Given the description of an element on the screen output the (x, y) to click on. 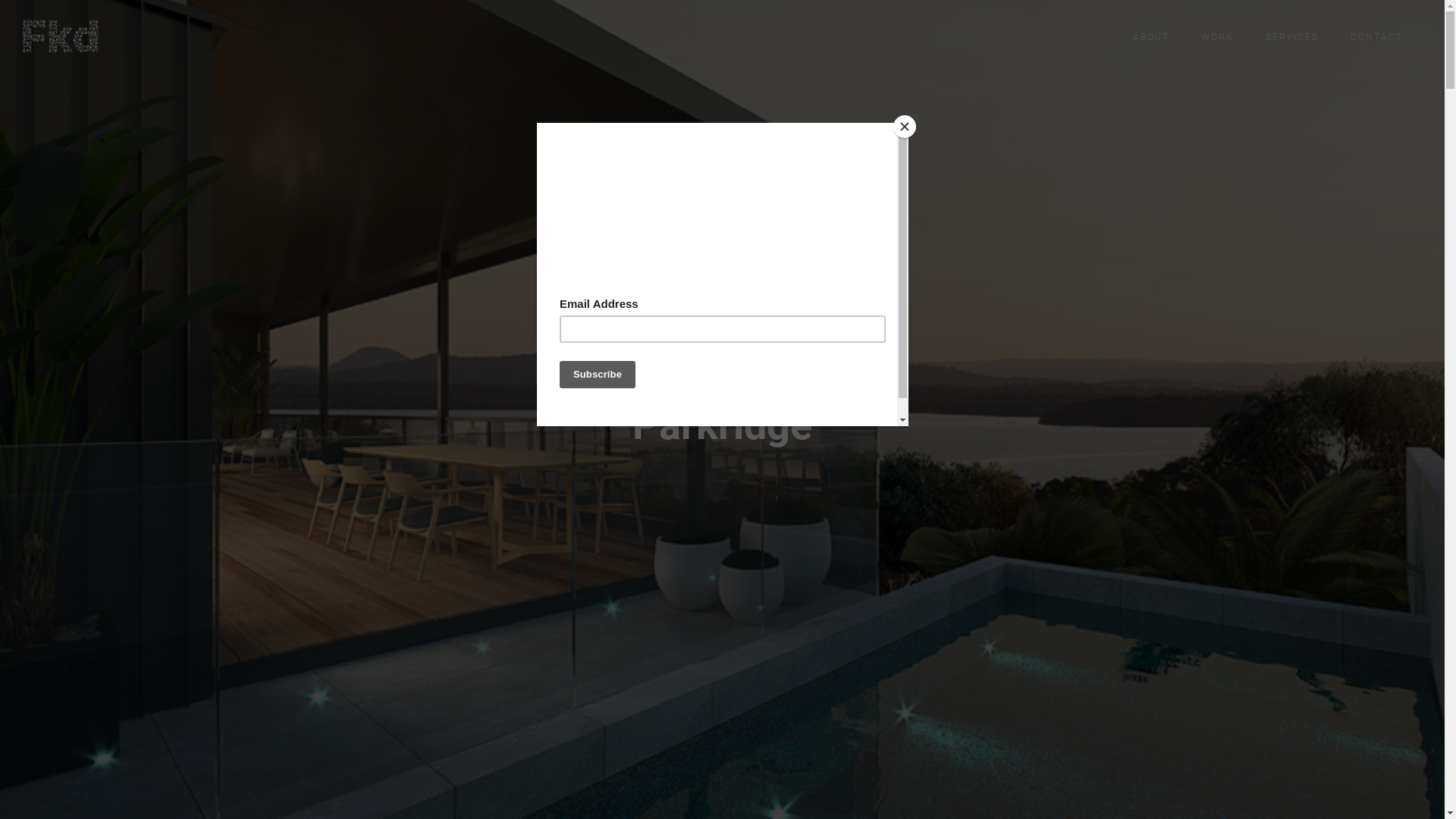
SERVICES Element type: text (1292, 36)
CONTACT Element type: text (1376, 36)
WORK Element type: text (1217, 36)
ABOUT Element type: text (1150, 36)
